Given the description of an element on the screen output the (x, y) to click on. 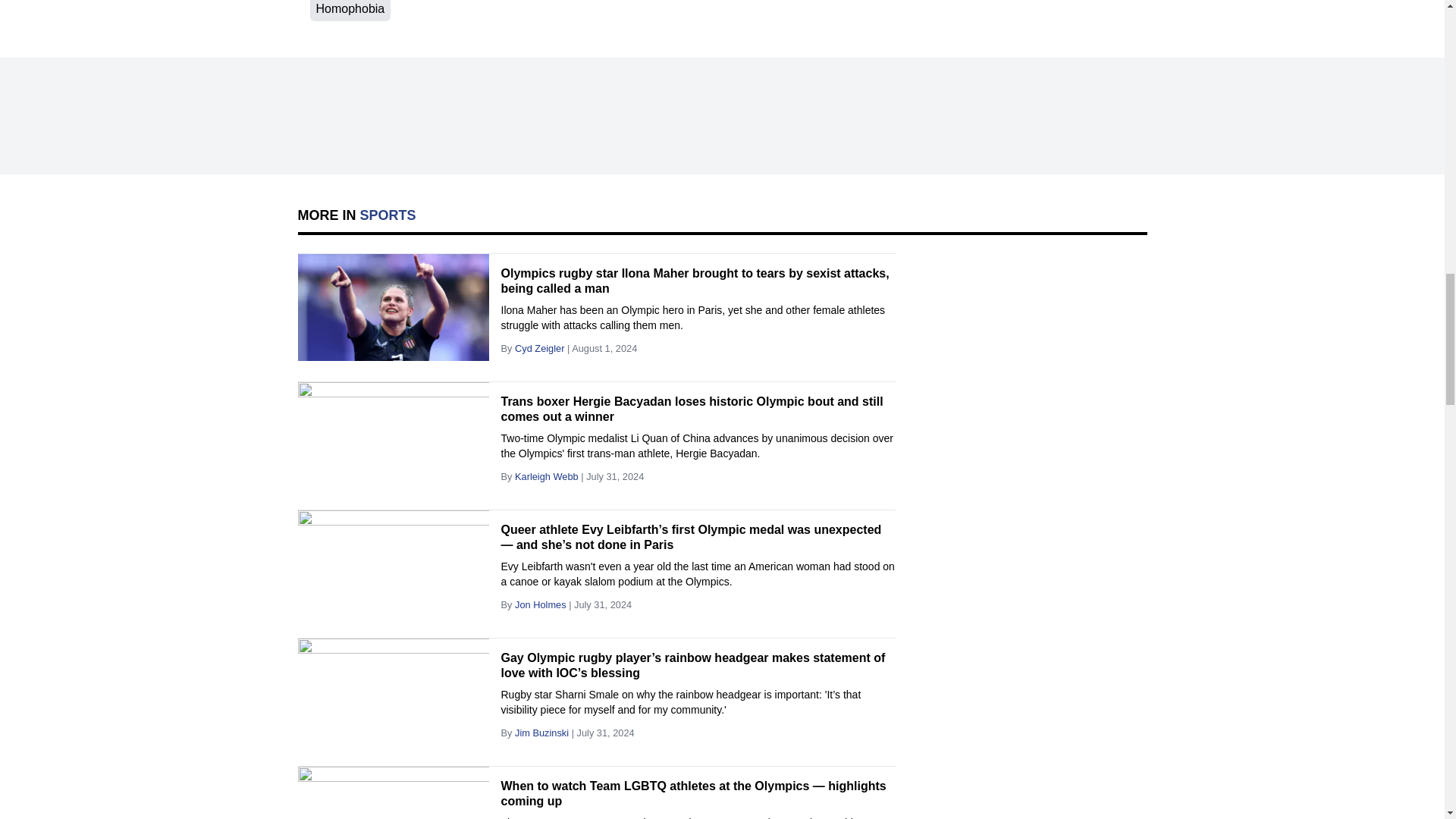
Homophobia (349, 10)
